Given the description of an element on the screen output the (x, y) to click on. 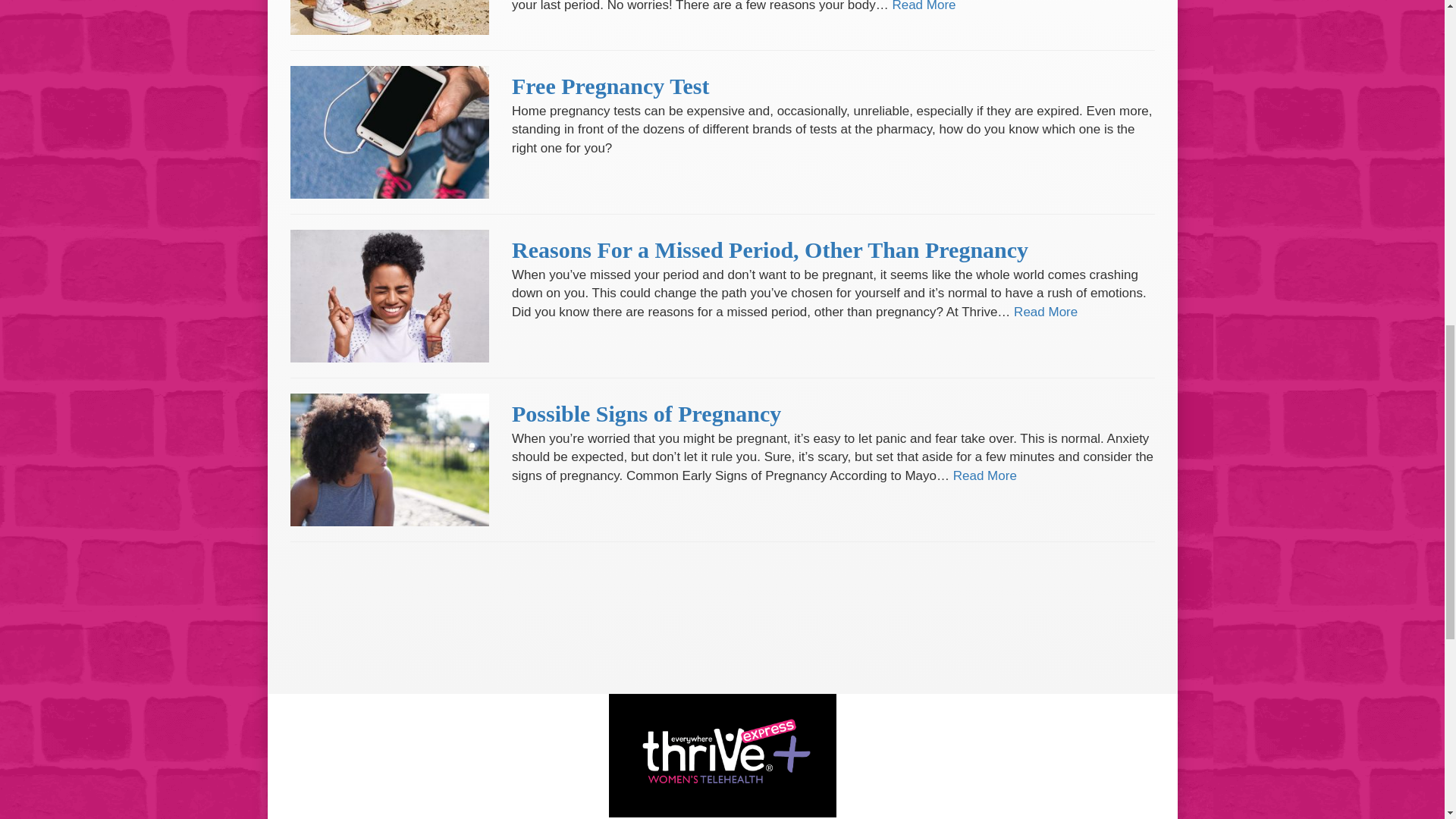
Read More (1045, 311)
Read More (923, 6)
Read More (984, 475)
Reasons For a Missed Period, Other Than Pregnancy (769, 249)
Possible Signs of Pregnancy (646, 413)
Free Pregnancy Test (611, 85)
